Given the description of an element on the screen output the (x, y) to click on. 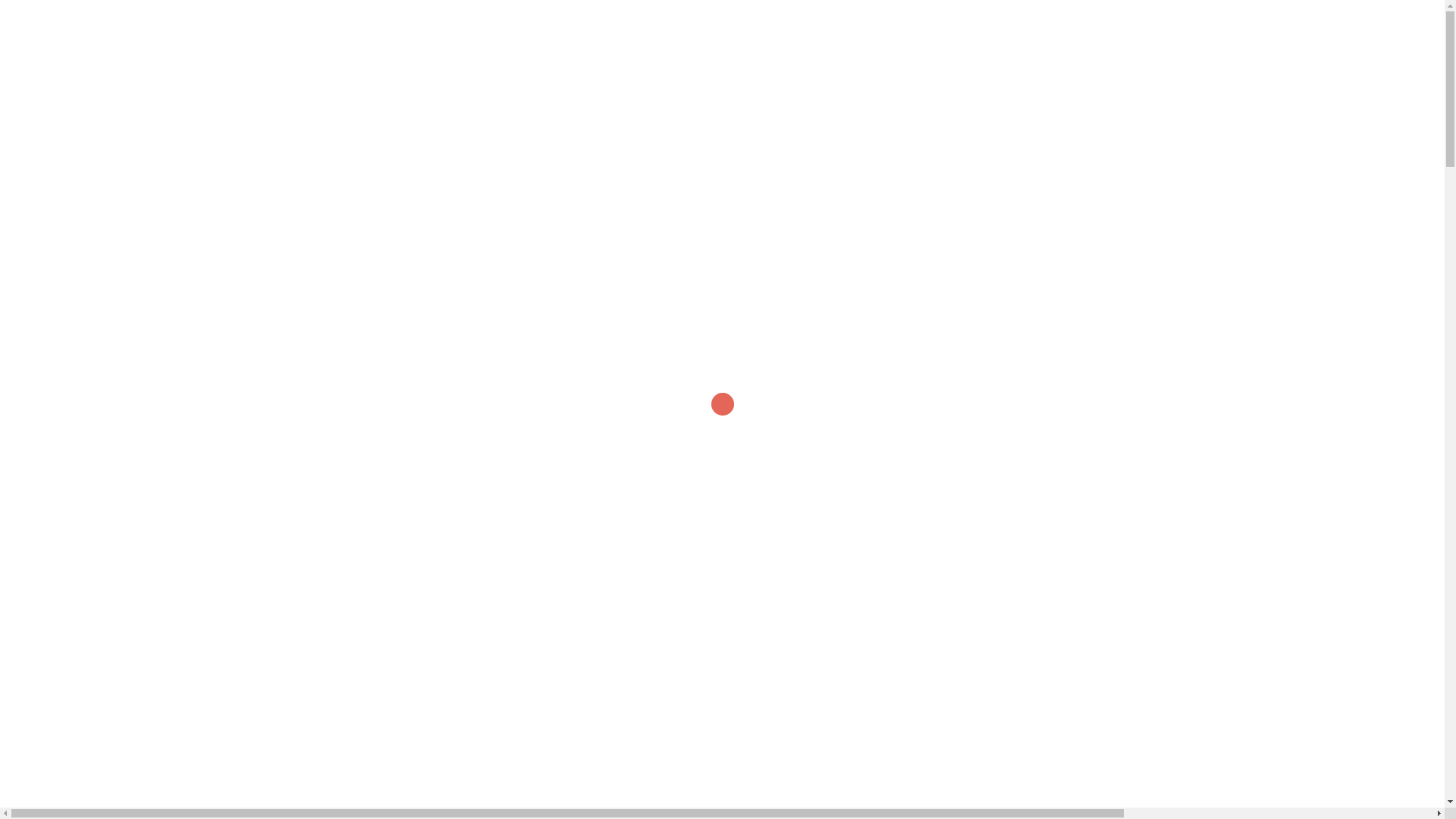
Aller au contenu Element type: text (0, 0)
PARTICULIERS Element type: text (802, 25)
ACCUEIL Element type: text (721, 25)
CONTACT Element type: text (1118, 25)
BLOG Element type: text (1057, 25)
PROFESSIONNELS Element type: text (907, 25)
